Given the description of an element on the screen output the (x, y) to click on. 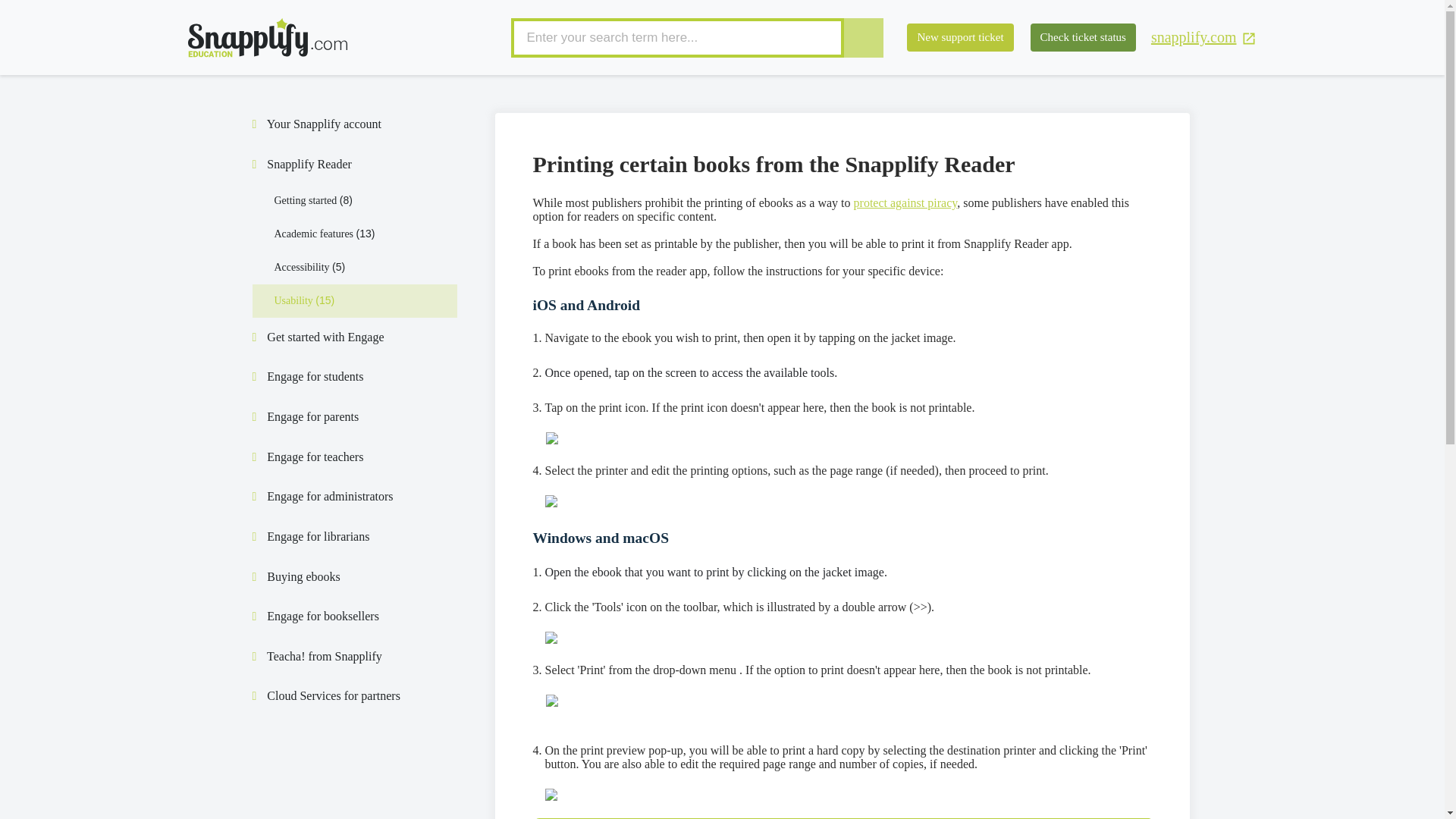
Check ticket status (1082, 37)
Get started with Engage (325, 336)
Accessibility 5 (310, 266)
New support ticket (960, 37)
Academic features (325, 233)
Check ticket status (1082, 37)
Academic features 13 (325, 233)
Usability 15 (304, 300)
Usability (304, 300)
Getting started 8 (313, 200)
